Given the description of an element on the screen output the (x, y) to click on. 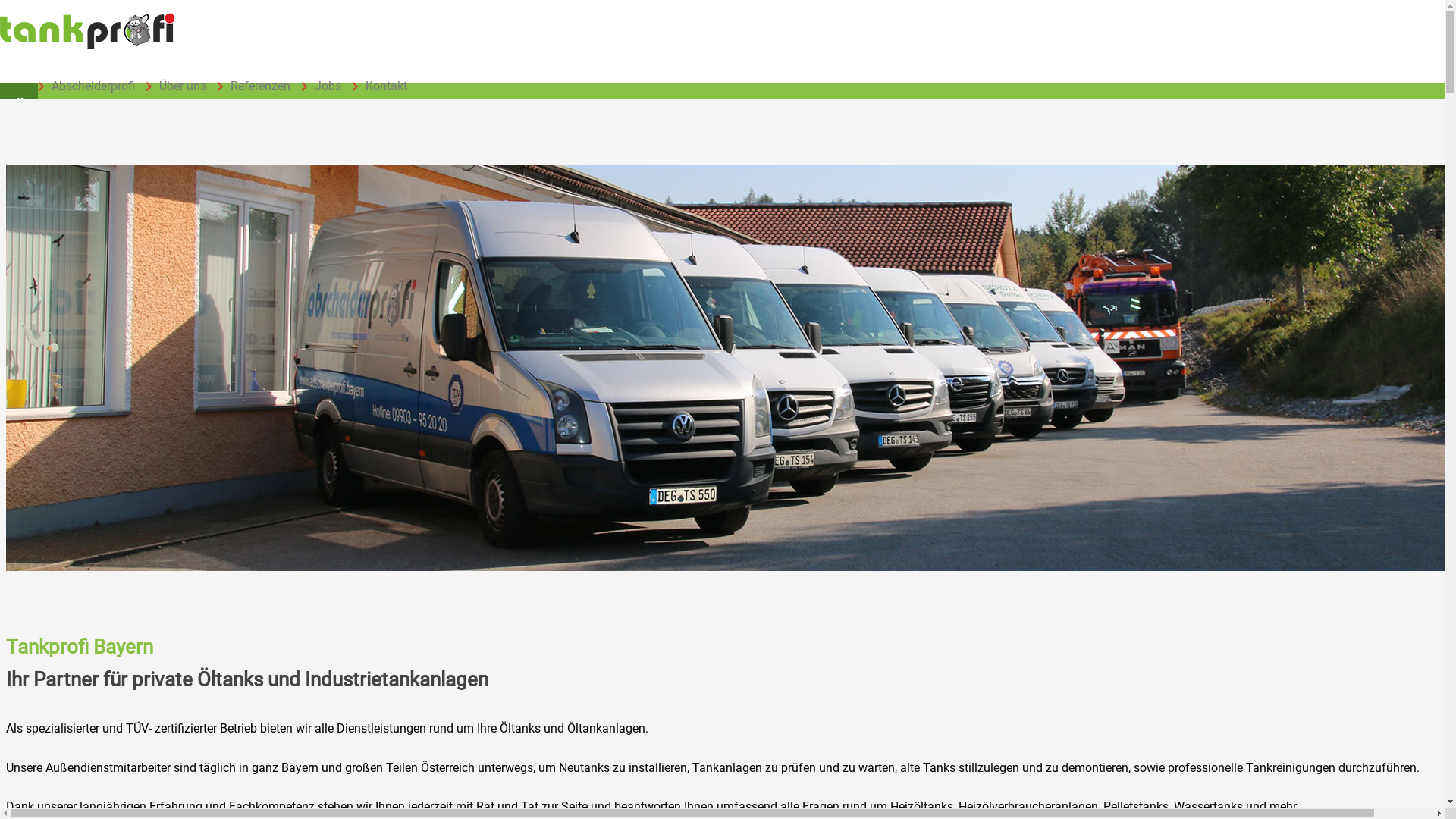
INDUSTRIETANKANLAGEN Element type: text (526, 102)
DEMONTAGE Element type: text (282, 102)
TANKREINIGUNG Element type: text (93, 102)
Jobs Element type: text (317, 85)
Referenzen Element type: text (249, 85)
INDUSTRIEKLETTERN Element type: text (675, 102)
SANIERUNG Element type: text (193, 102)
Abscheiderprofi Element type: text (82, 85)
KONTAKT Element type: text (780, 102)
Kontakt Element type: text (375, 85)
NEUTANKANLAGE Element type: text (386, 102)
